Given the description of an element on the screen output the (x, y) to click on. 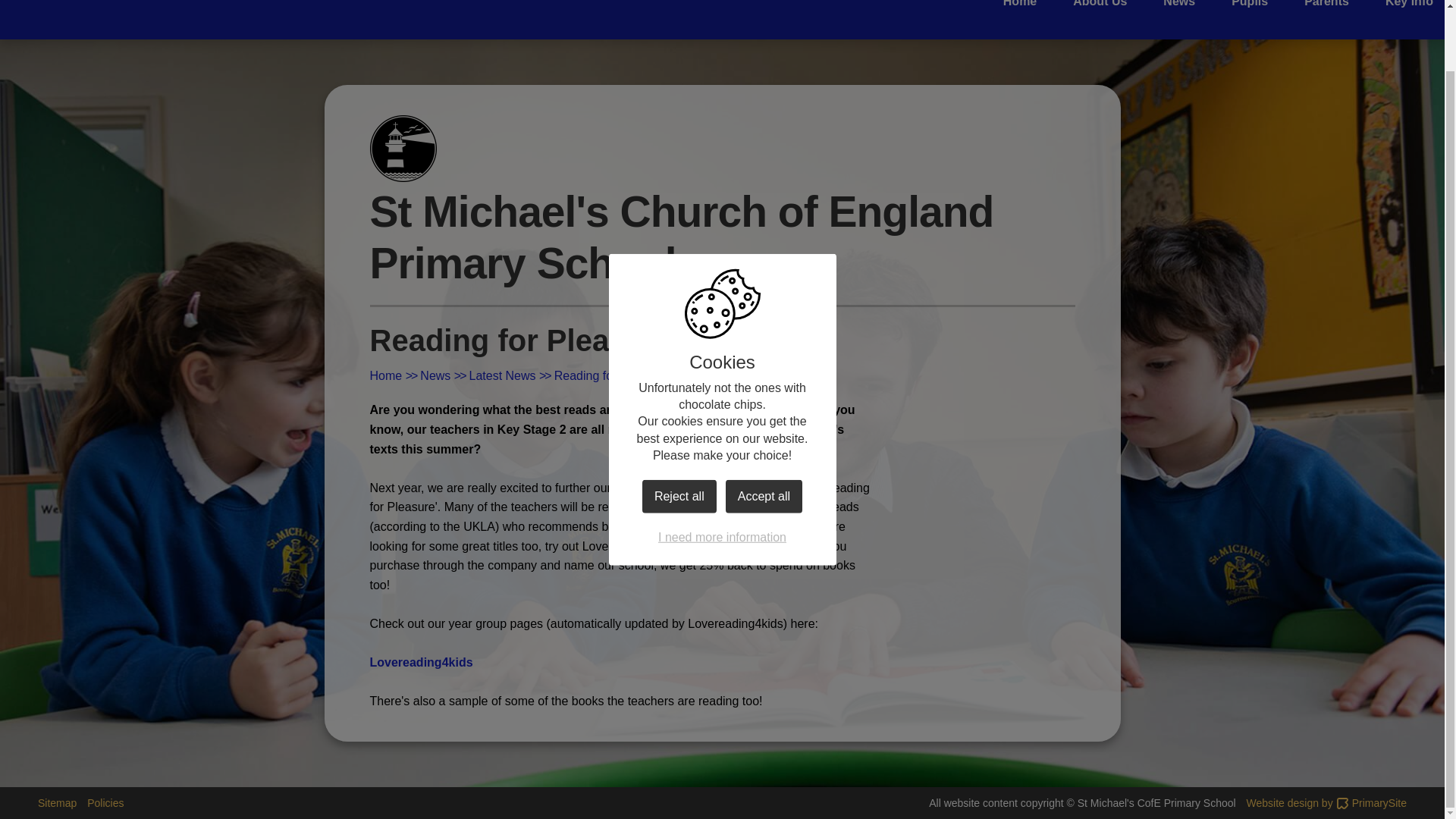
Home (1019, 5)
About Us (1099, 5)
